Given the description of an element on the screen output the (x, y) to click on. 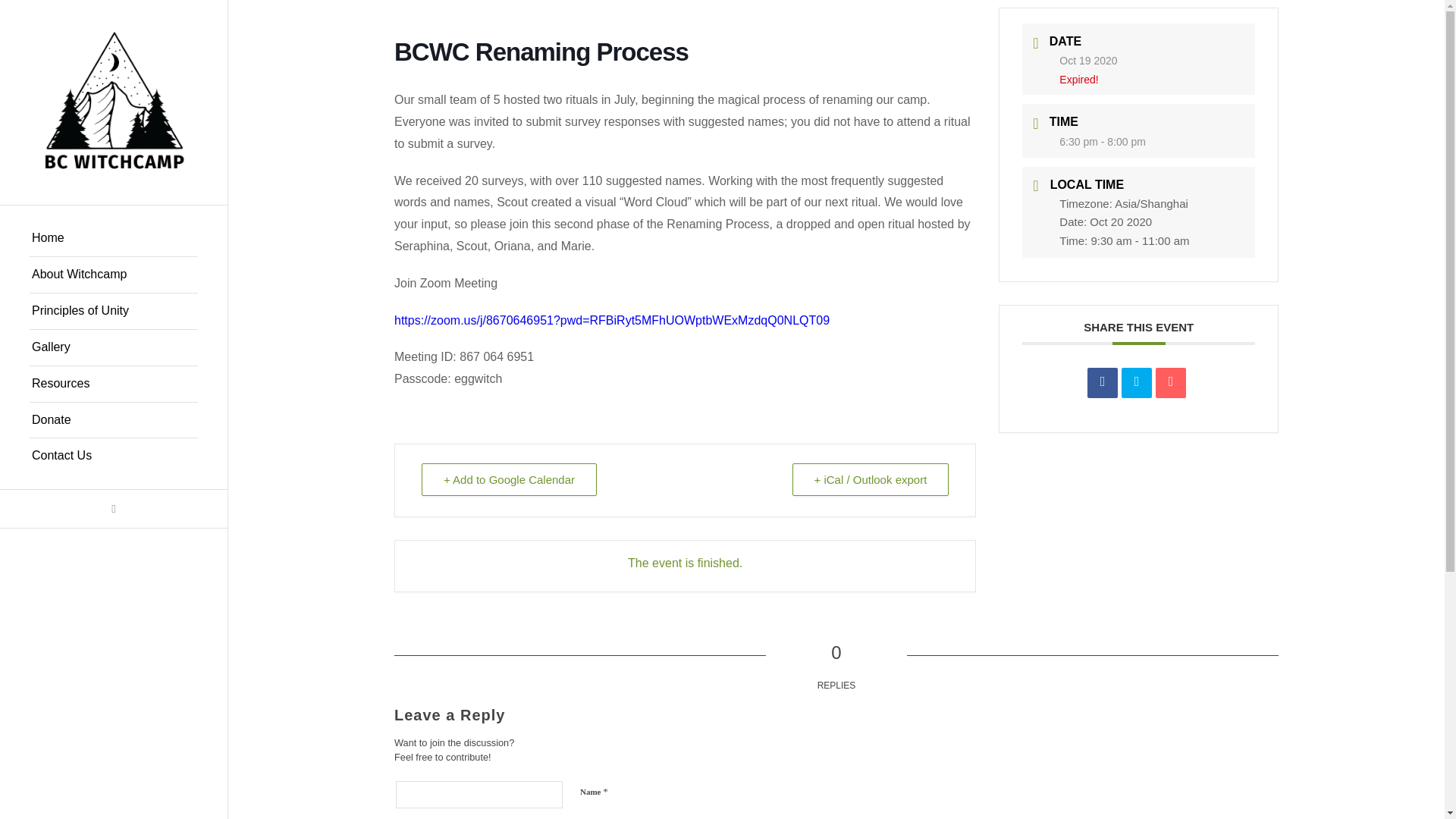
Principles of Unity (113, 311)
Gallery (113, 348)
Facebook (113, 508)
Home (113, 238)
Donate (113, 420)
Email (1171, 382)
Tweet (1136, 382)
About Witchcamp (113, 275)
Contact Us (113, 456)
Share on Facebook (1102, 382)
